Given the description of an element on the screen output the (x, y) to click on. 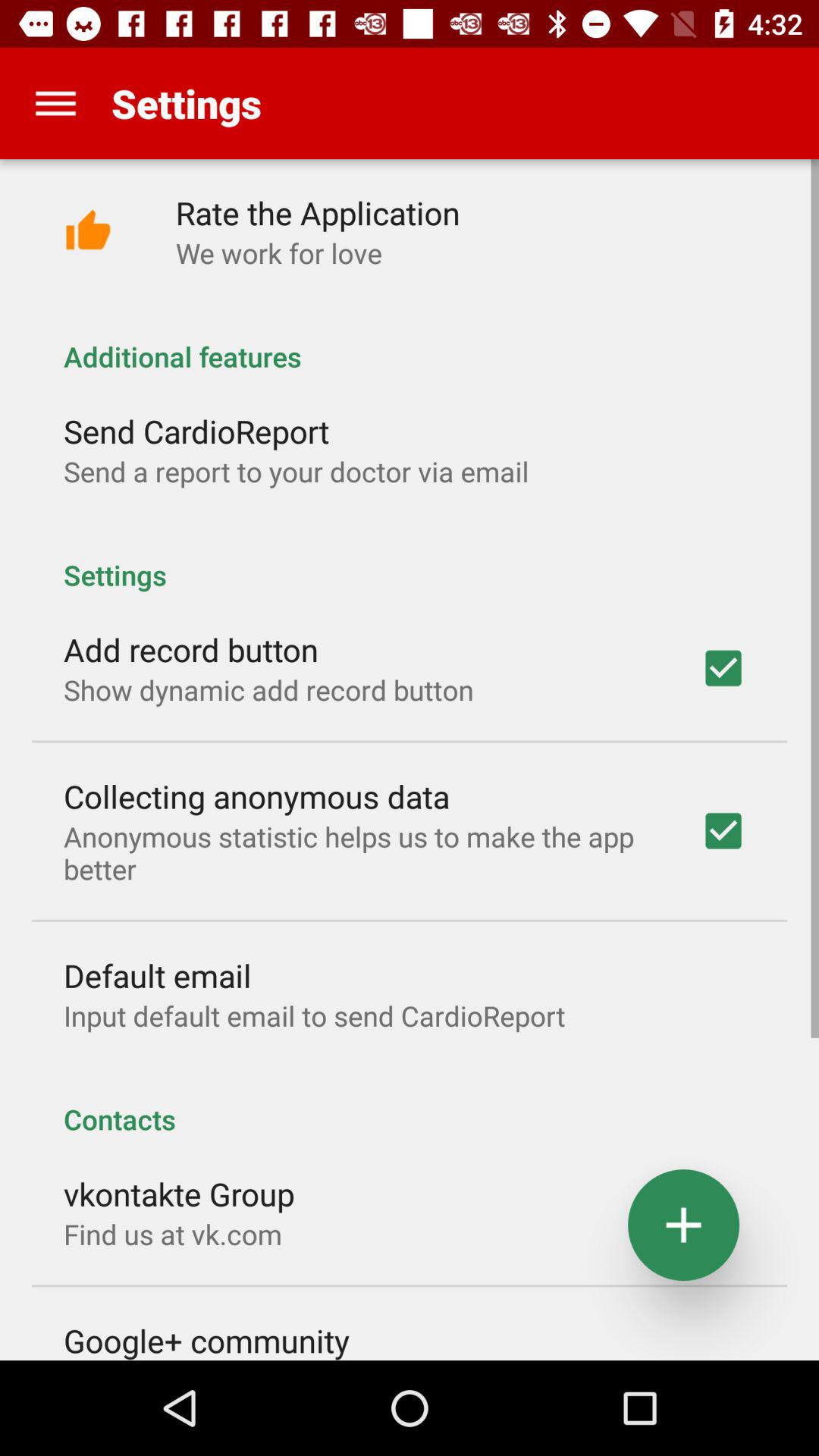
turn off the rate the application (317, 212)
